Given the description of an element on the screen output the (x, y) to click on. 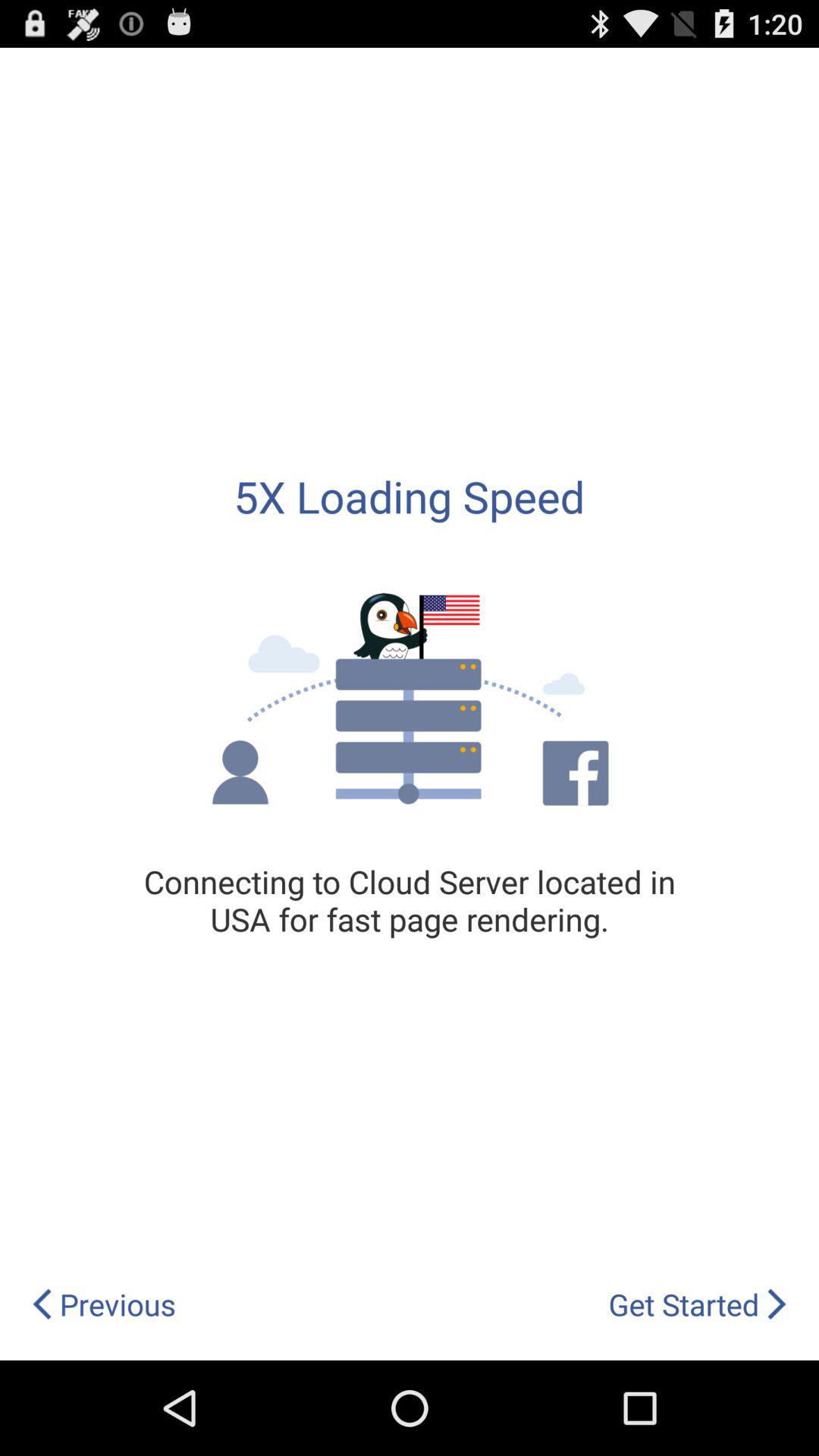
launch item below the connecting to cloud icon (103, 1304)
